Given the description of an element on the screen output the (x, y) to click on. 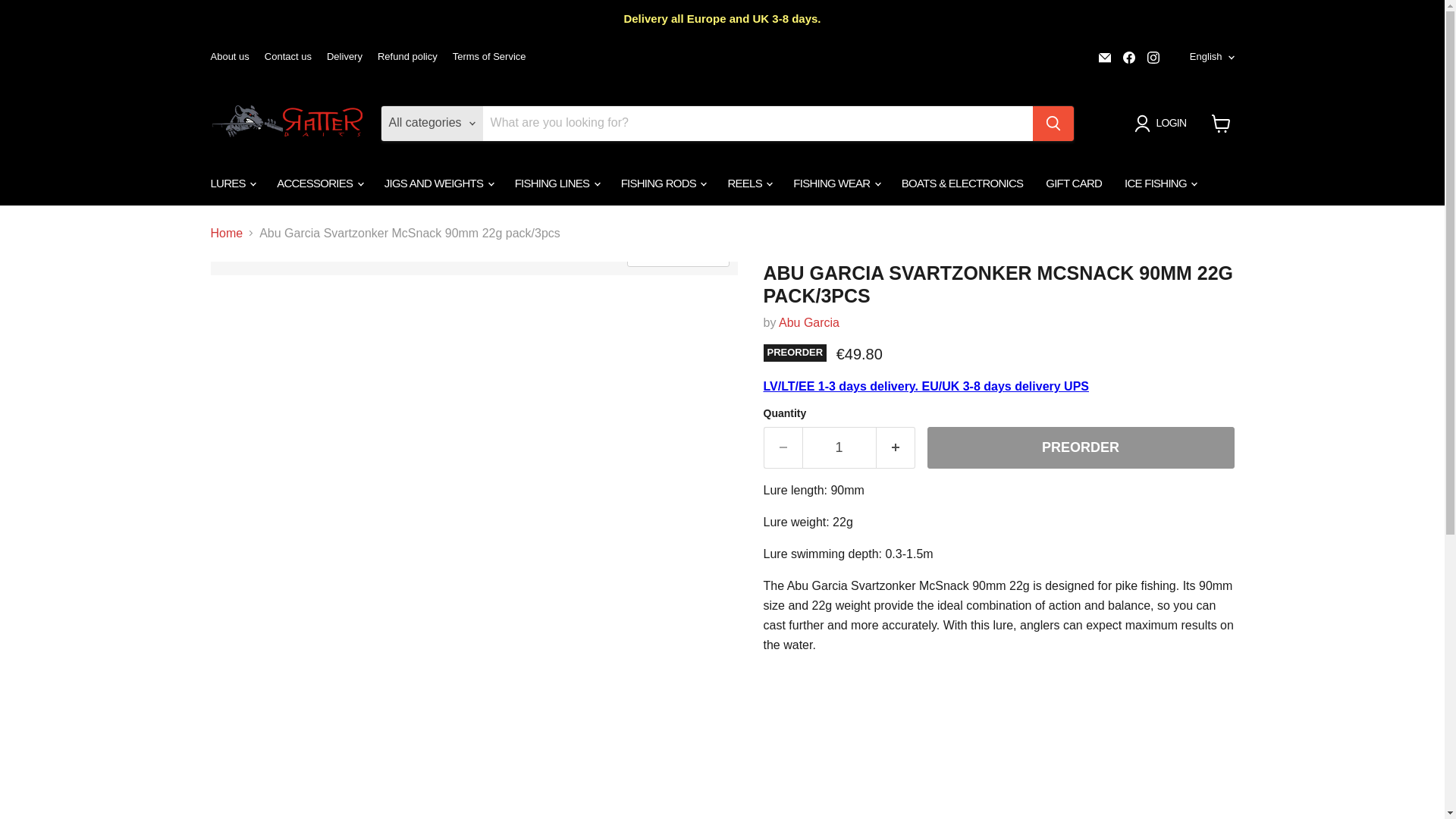
Delivery (344, 57)
Find us on Facebook (1129, 56)
About us (229, 57)
Email (1104, 56)
1 (839, 447)
Refund policy (407, 57)
Facebook (1129, 56)
Abu Garcia (809, 322)
Contact us (287, 57)
Instagram (1152, 56)
Email Ratter Baits (1104, 56)
LOGIN (1163, 123)
English (1208, 56)
Terms of Service (488, 57)
Find us on Instagram (1152, 56)
